Given the description of an element on the screen output the (x, y) to click on. 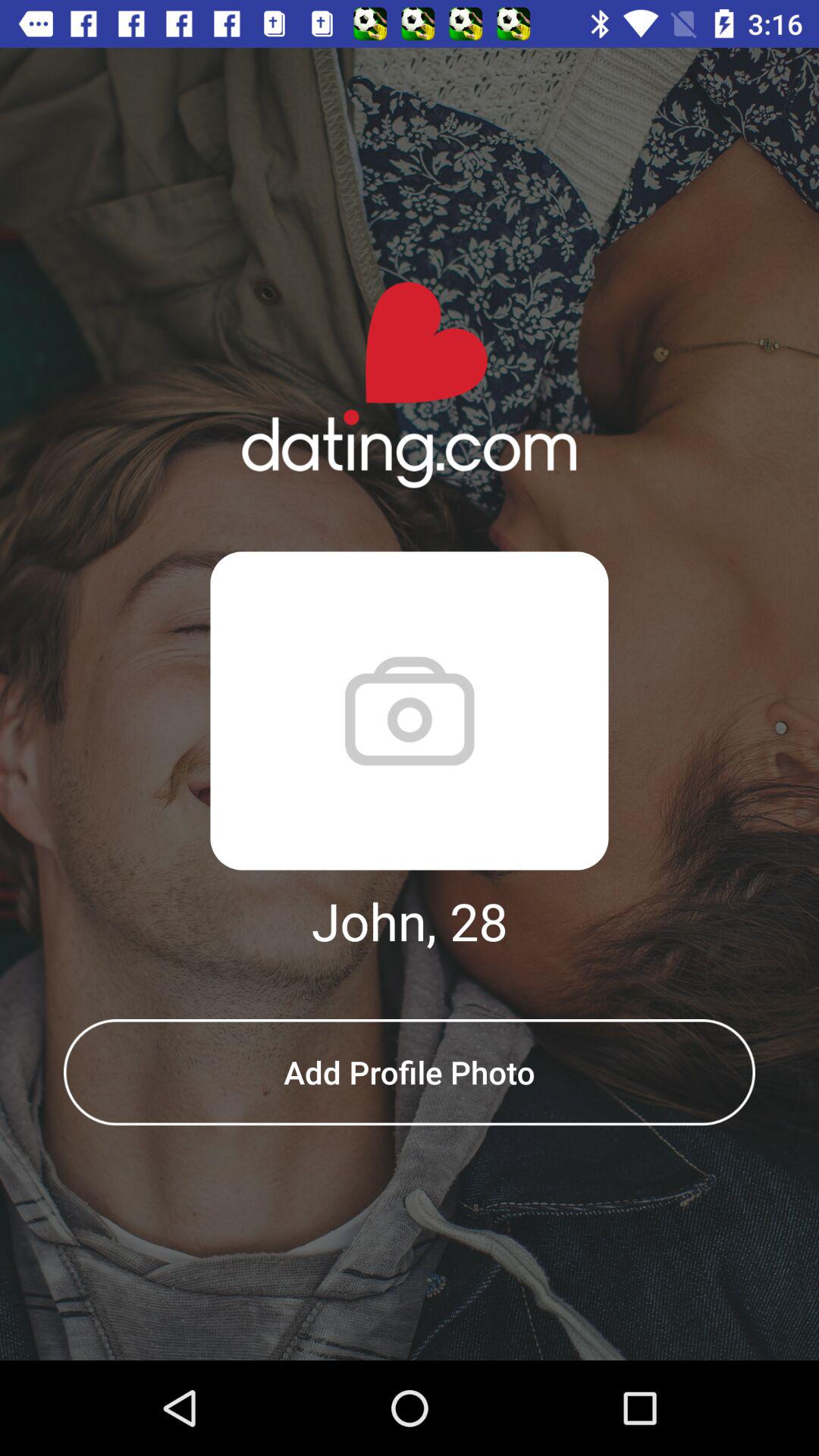
take photo (409, 710)
